Given the description of an element on the screen output the (x, y) to click on. 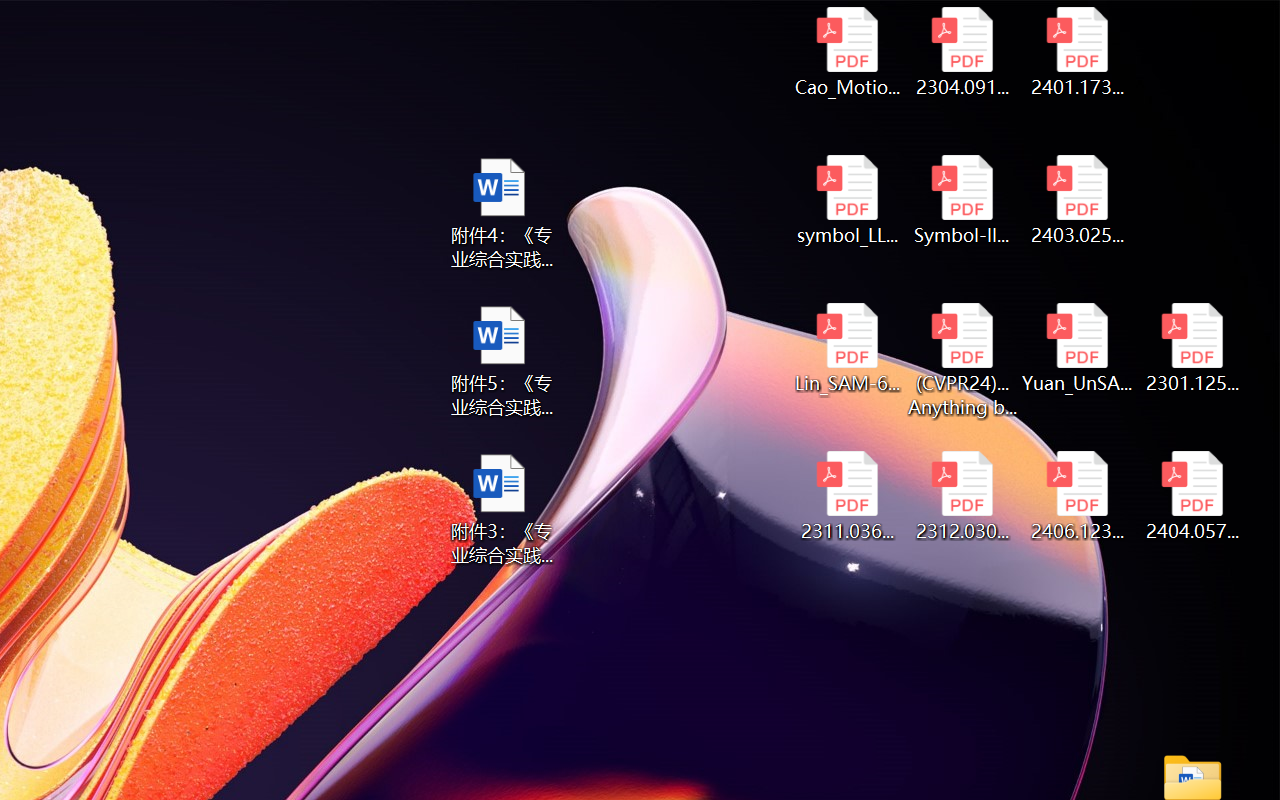
symbol_LLM.pdf (846, 200)
